Given the description of an element on the screen output the (x, y) to click on. 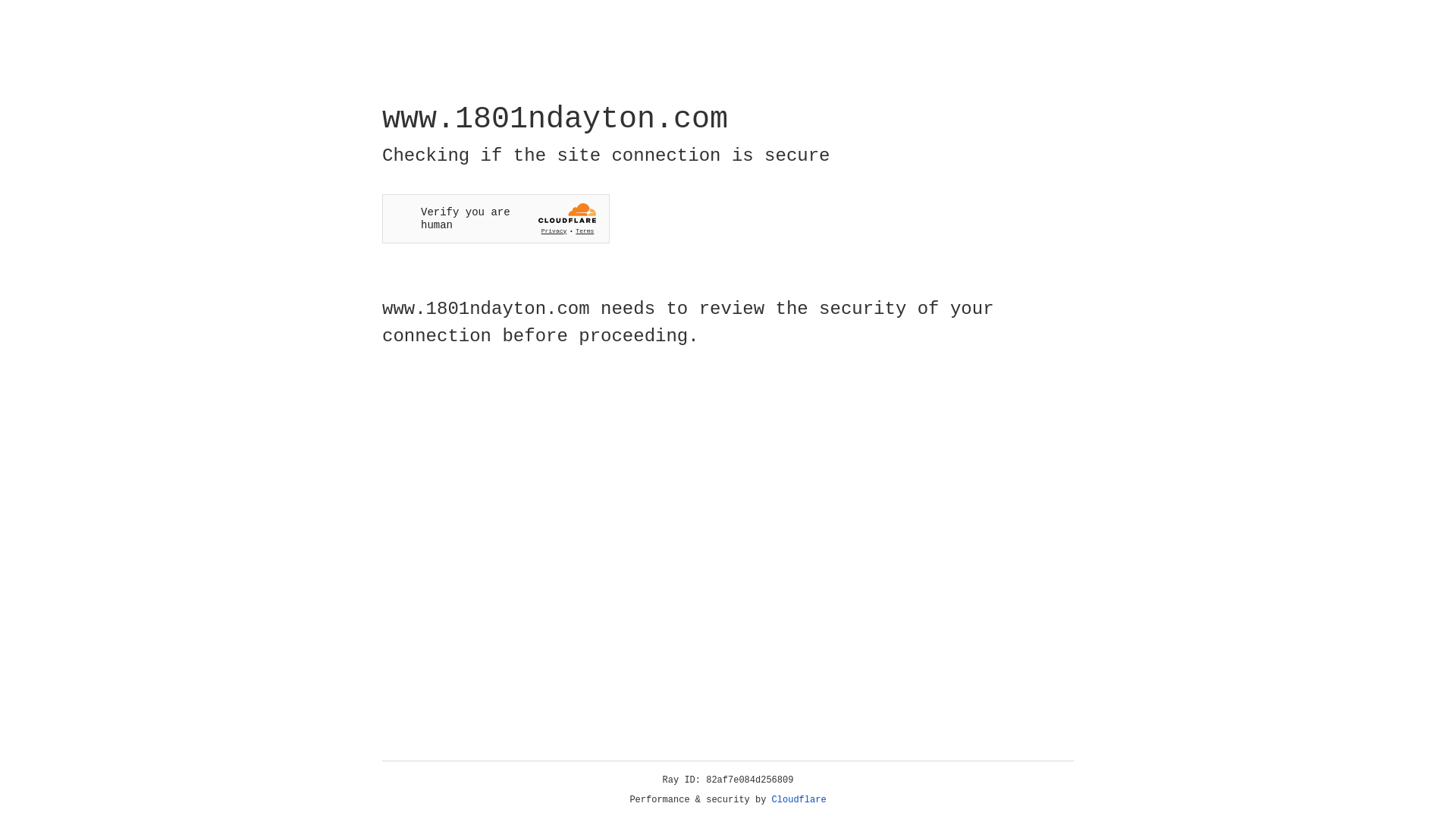
Widget containing a Cloudflare security challenge Element type: hover (495, 218)
Cloudflare Element type: text (798, 799)
